Given the description of an element on the screen output the (x, y) to click on. 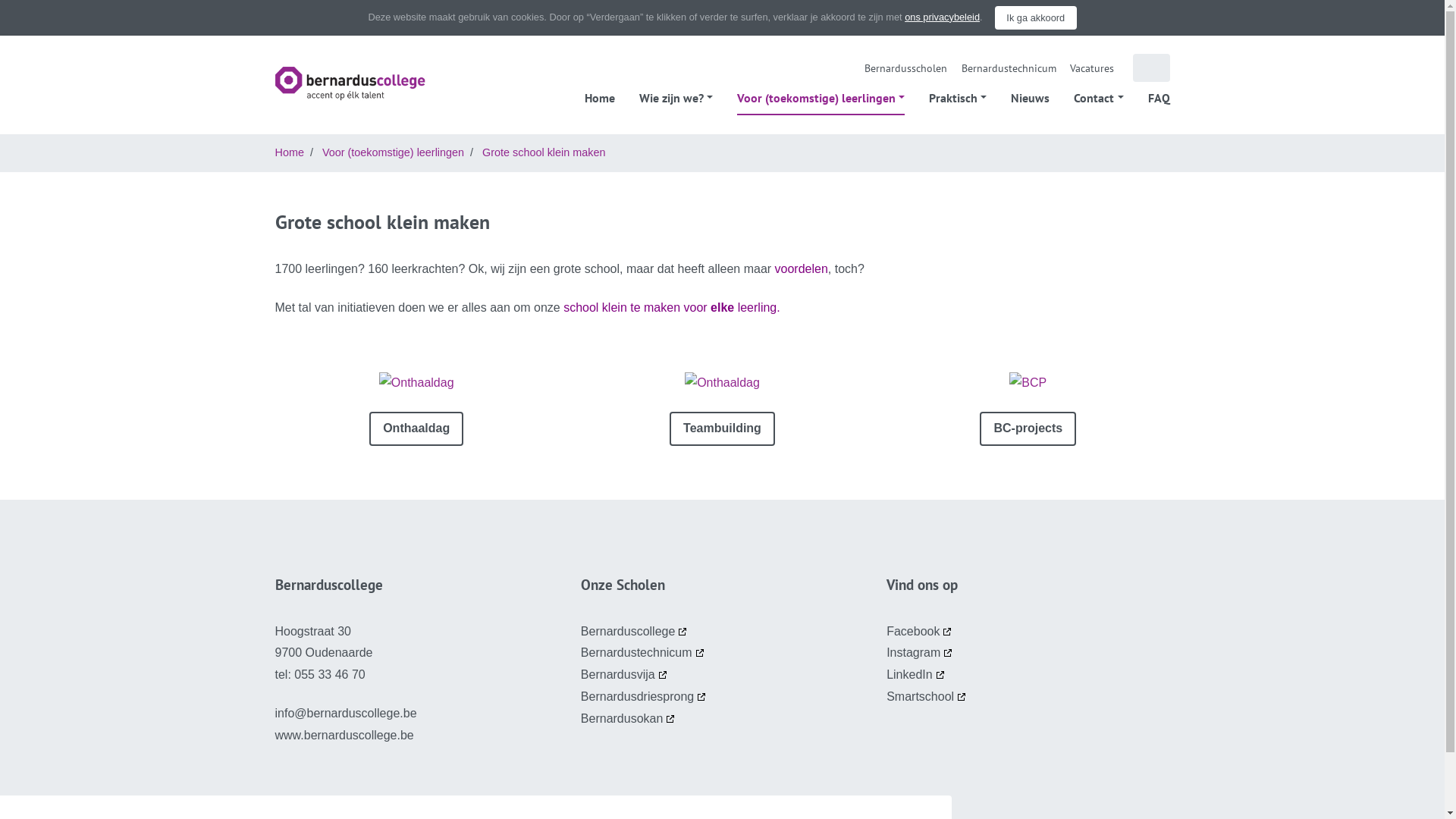
www.bernarduscollege.be Element type: text (343, 734)
Praktisch Element type: text (957, 97)
Teambuilding Element type: text (722, 428)
Bernarduscollege Element type: text (634, 630)
Bernardusdriesprong Element type: text (643, 696)
LinkedIn Element type: text (916, 674)
Nieuws Element type: text (1029, 97)
Bernardustechnicum Element type: text (1008, 67)
Voor (toekomstige) leerlingen Element type: text (820, 97)
Smartschool Element type: text (926, 696)
info@bernarduscollege.be Element type: text (345, 712)
FAQ Element type: text (1159, 97)
Instagram Element type: text (919, 652)
Home Element type: text (599, 97)
Vacatures Element type: text (1091, 67)
Bernardusscholen Element type: text (905, 67)
Wie zijn we? Element type: text (675, 97)
Home Element type: text (288, 152)
Bernardusvija Element type: text (624, 674)
Grote school klein maken Element type: text (543, 152)
Voor (toekomstige) leerlingen Element type: text (393, 152)
Bernardusokan Element type: text (628, 718)
Ik ga akkoord Element type: text (1035, 17)
Bernardustechnicum Element type: text (643, 652)
Onthaaldag Element type: text (416, 428)
Contact Element type: text (1098, 97)
Facebook Element type: text (919, 630)
BC-projects Element type: text (1027, 428)
ons privacybeleid Element type: text (941, 16)
Bernarduscollege Element type: hover (359, 82)
